Given the description of an element on the screen output the (x, y) to click on. 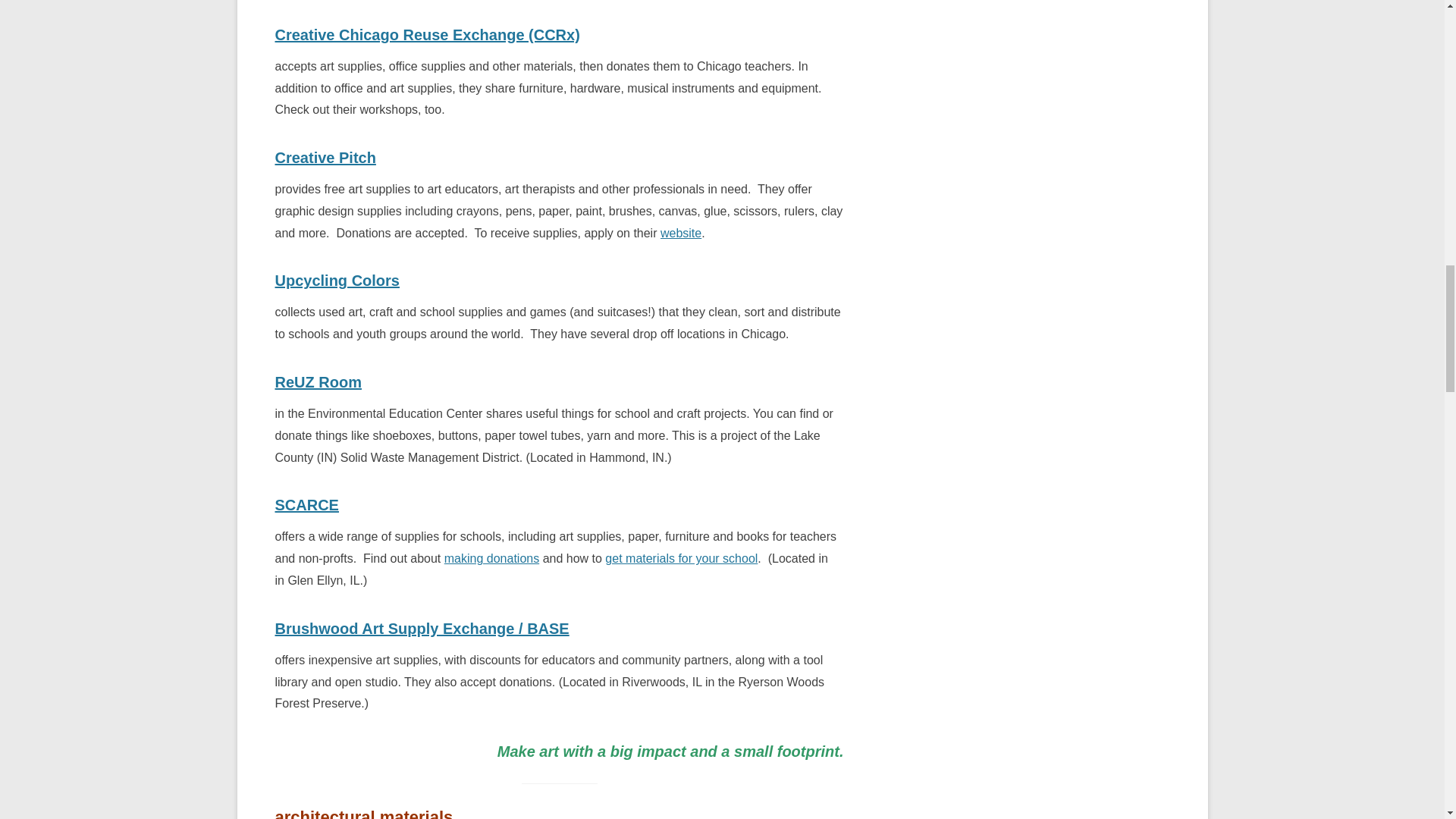
Upcycling Colors (336, 280)
get materials for your school (681, 558)
making donations (491, 558)
Creative Pitch (325, 157)
website (681, 232)
ReUZ Room (318, 381)
SCARCE (306, 504)
